Given the description of an element on the screen output the (x, y) to click on. 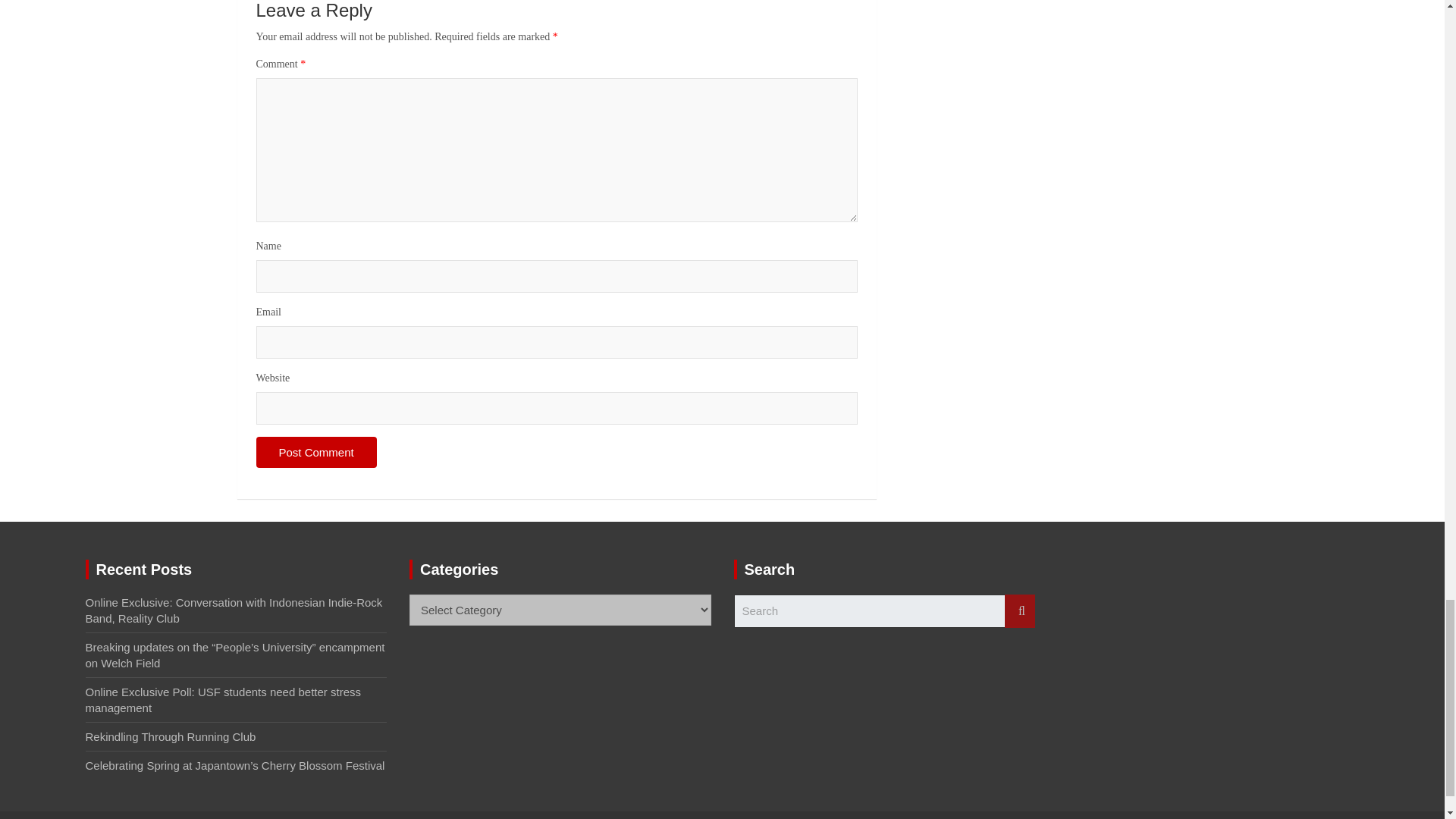
Post Comment (316, 451)
Post Comment (316, 451)
